Given the description of an element on the screen output the (x, y) to click on. 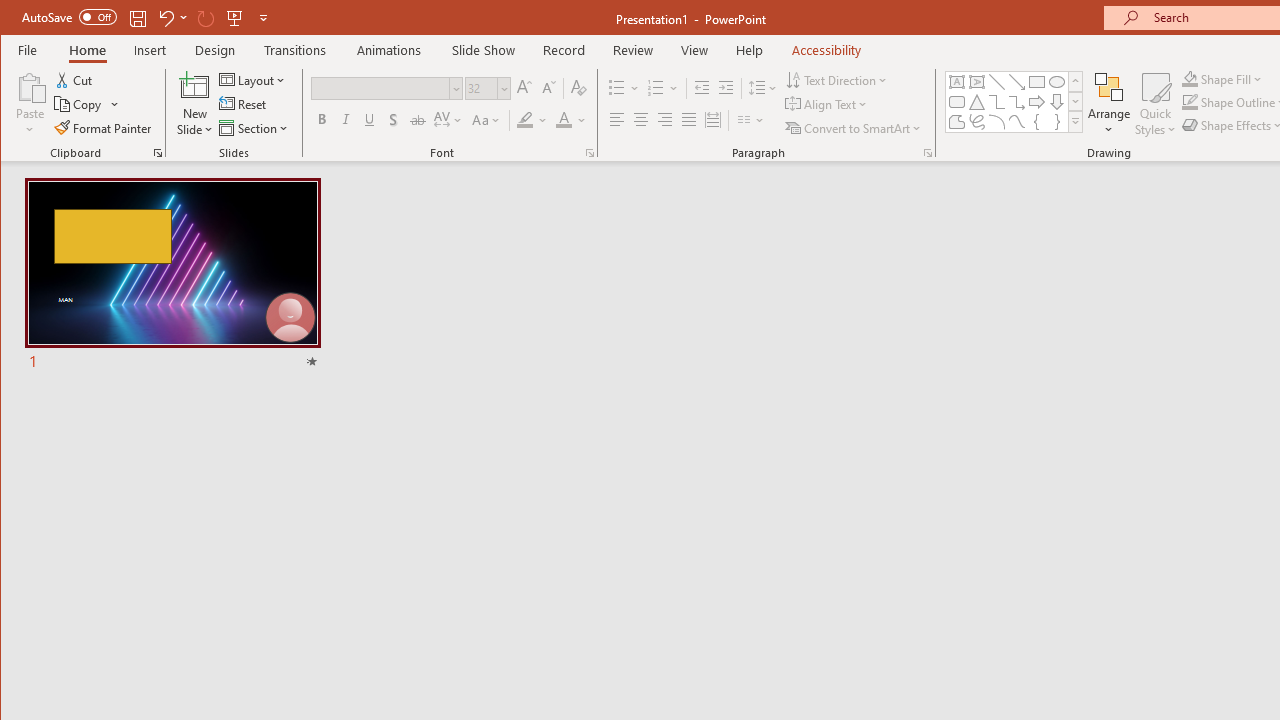
Oval (1057, 82)
Curve (1016, 121)
Bold (321, 119)
Shadow (393, 119)
Connector: Elbow Arrow (1016, 102)
Reset (244, 103)
Columns (751, 119)
Decrease Font Size (548, 88)
Shape Outline Blue, Accent 1 (1189, 101)
